Given the description of an element on the screen output the (x, y) to click on. 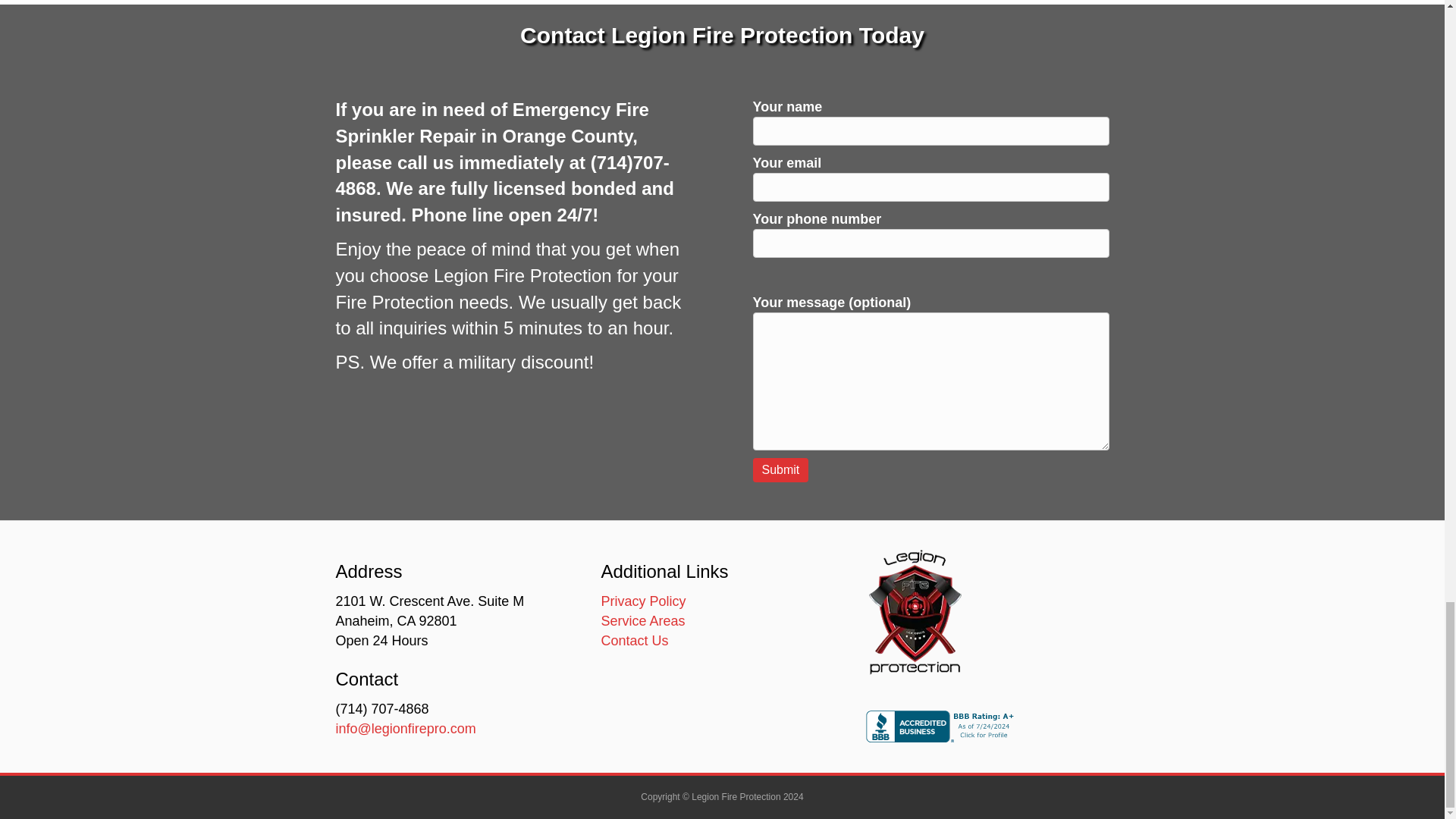
Submit (780, 469)
